Given the description of an element on the screen output the (x, y) to click on. 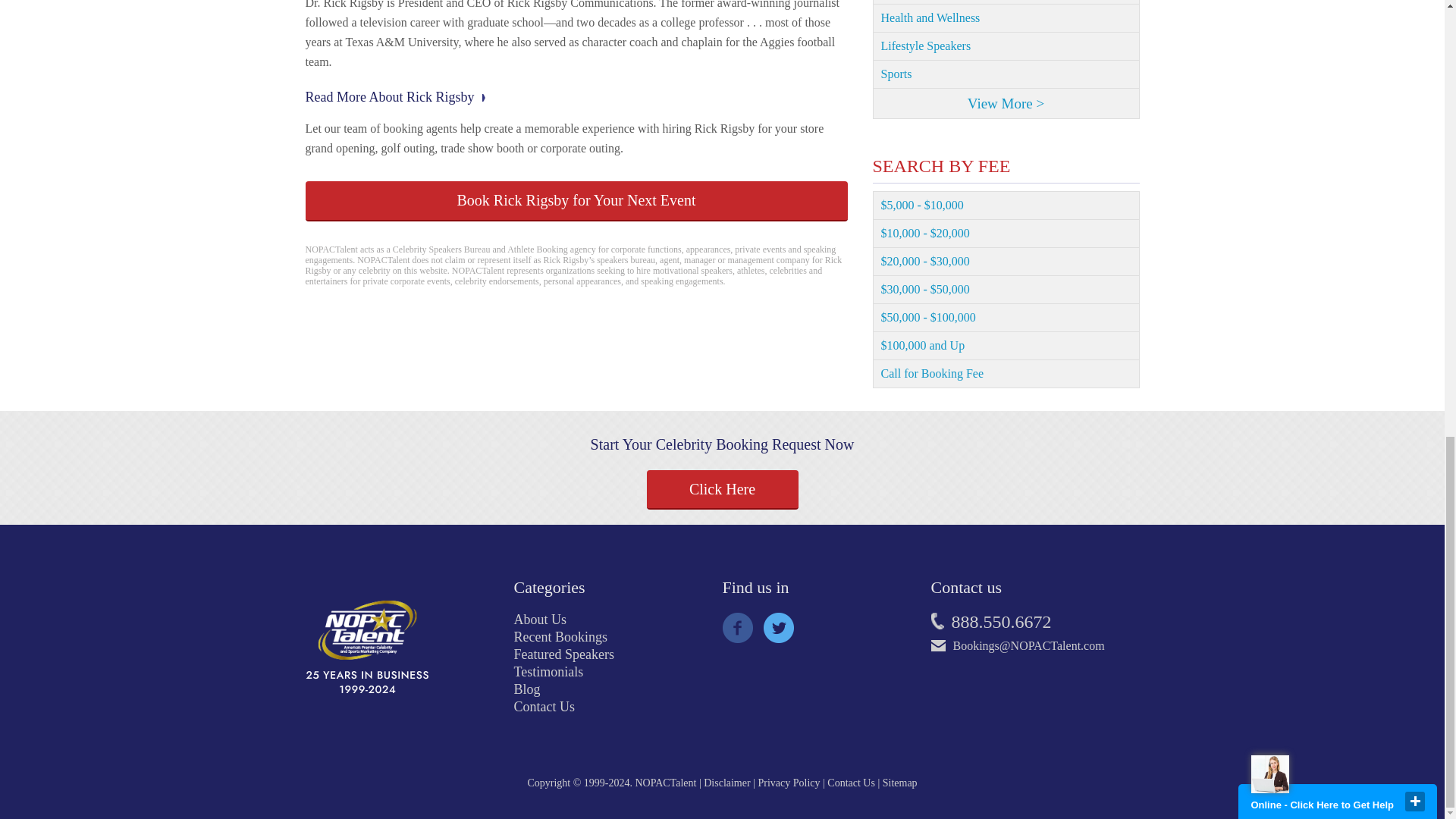
Entertainment (1005, 2)
Sports (1005, 74)
Lifestyle Speakers (1005, 46)
Book Rick Rigsby for Your Next Event (575, 200)
Health and Wellness (1005, 18)
Call for Booking Fee (1005, 374)
